Given the description of an element on the screen output the (x, y) to click on. 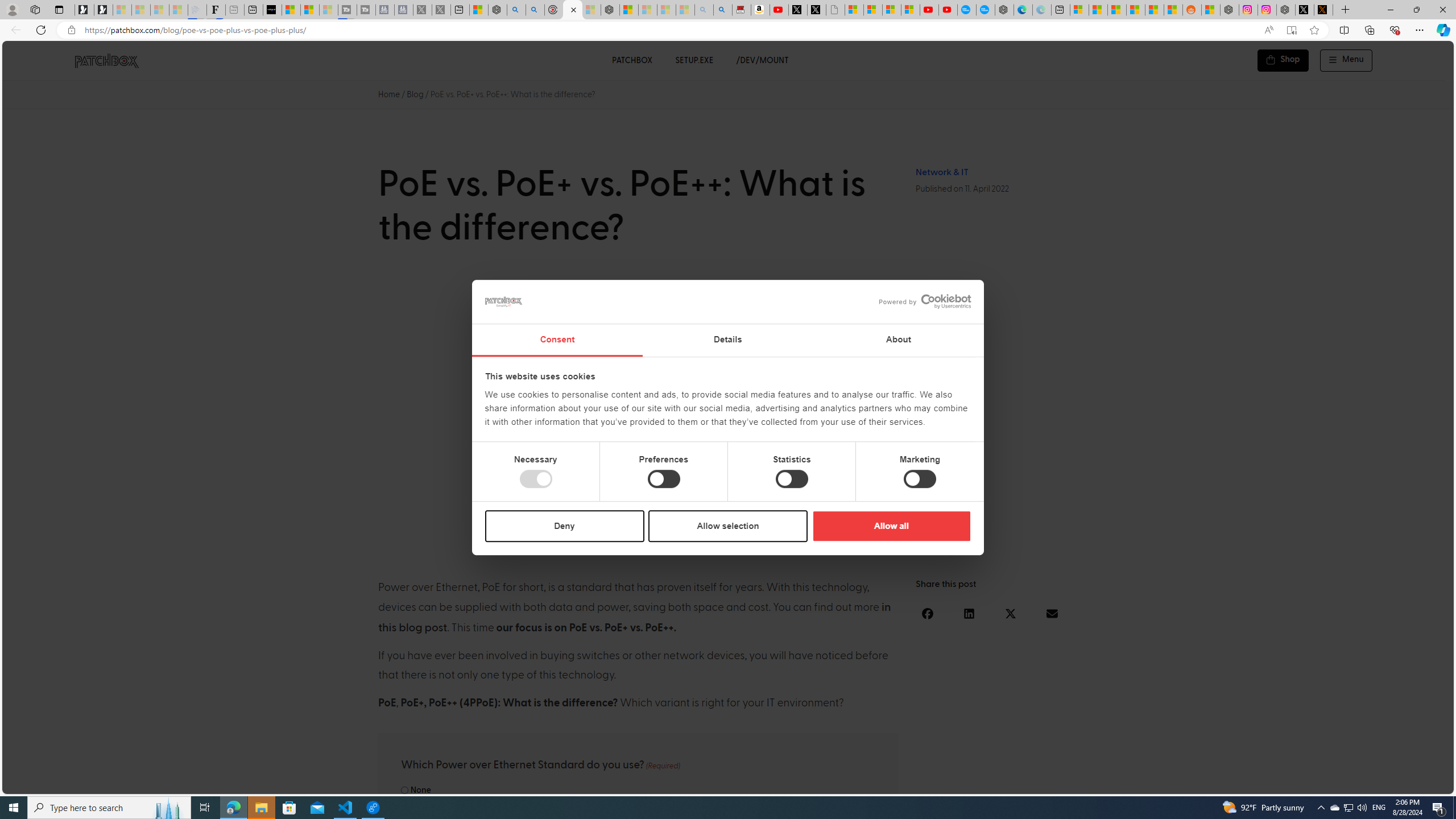
PATCHBOX Simplify IT (114, 60)
Language switcher : Greek (1380, 782)
Language switcher : French (1243, 782)
Language switcher : Norwegian (1288, 782)
SETUP.EXE (694, 60)
None (403, 790)
Language switcher : Portuguese (1401, 782)
PATCHBOX (631, 60)
About (898, 340)
/DEV/MOUNT (762, 60)
